Given the description of an element on the screen output the (x, y) to click on. 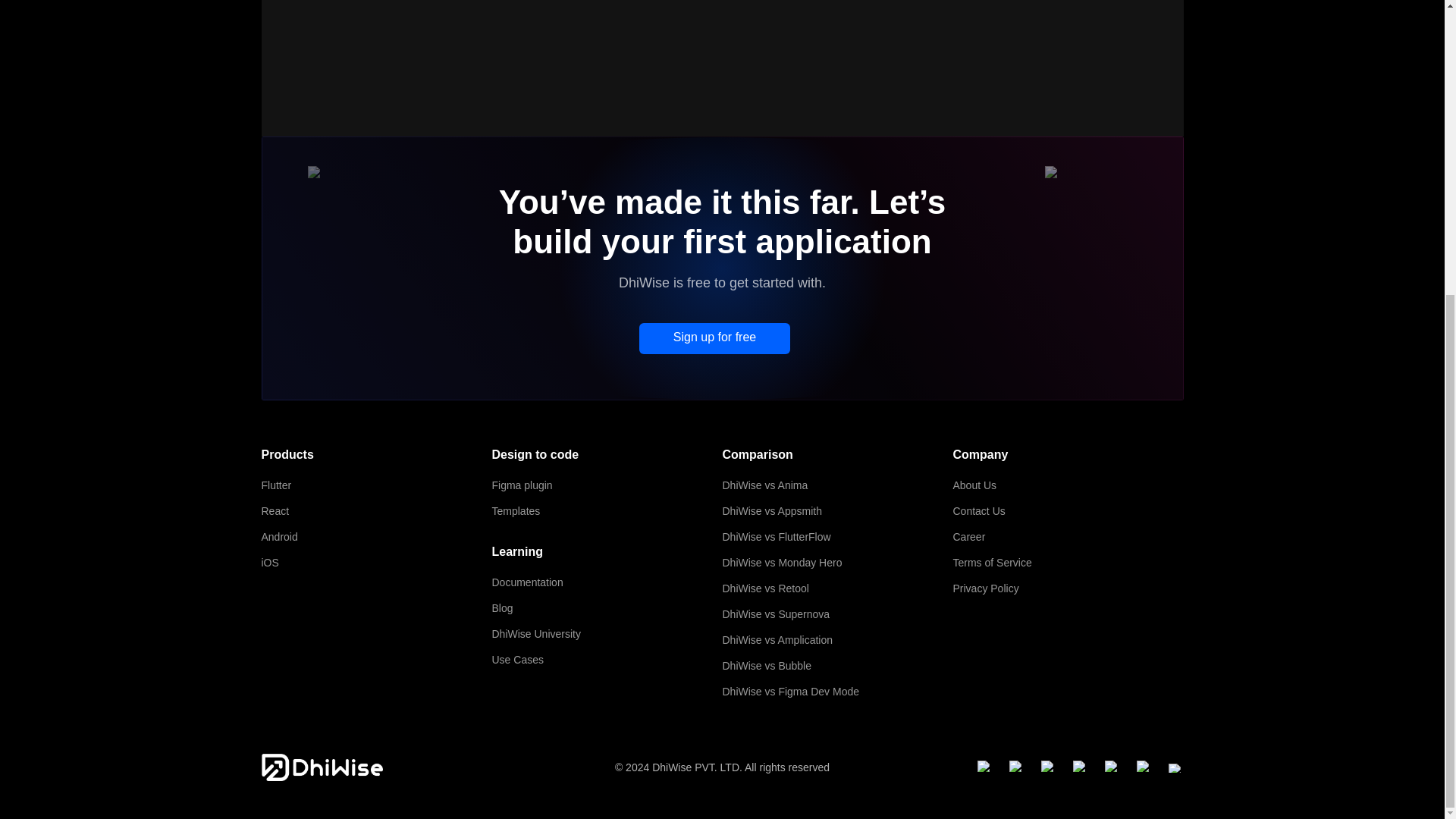
DhiWise University (607, 633)
About Us (1067, 484)
React (376, 511)
DhiWise vs Appsmith (837, 511)
Figma plugin (607, 484)
Contact Us (1067, 511)
Career (1067, 536)
DhiWise vs Monday Hero (837, 562)
Privacy Policy (1067, 588)
DhiWise vs Retool (837, 588)
